Given the description of an element on the screen output the (x, y) to click on. 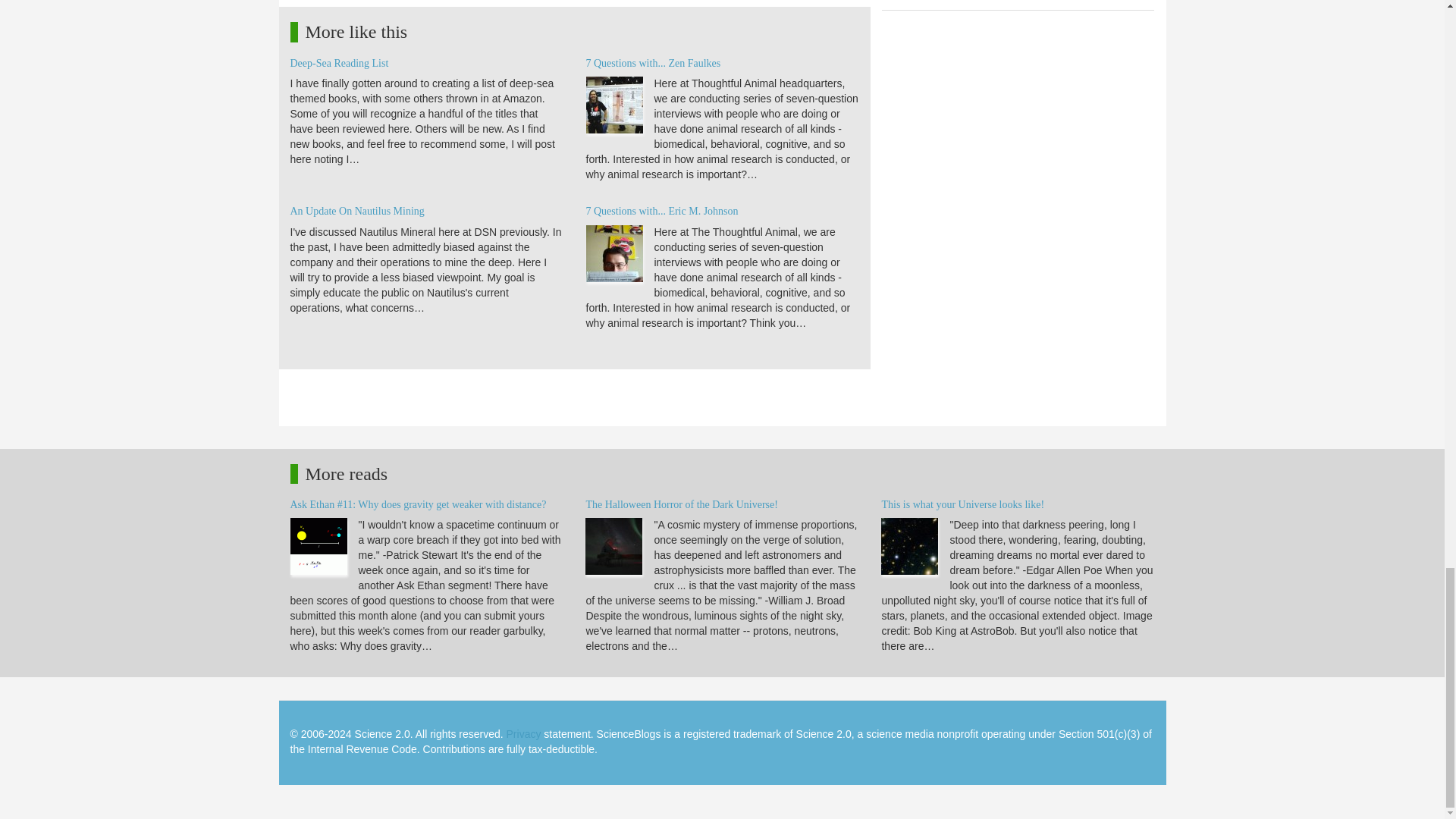
Deep-Sea Reading List (338, 62)
